Given the description of an element on the screen output the (x, y) to click on. 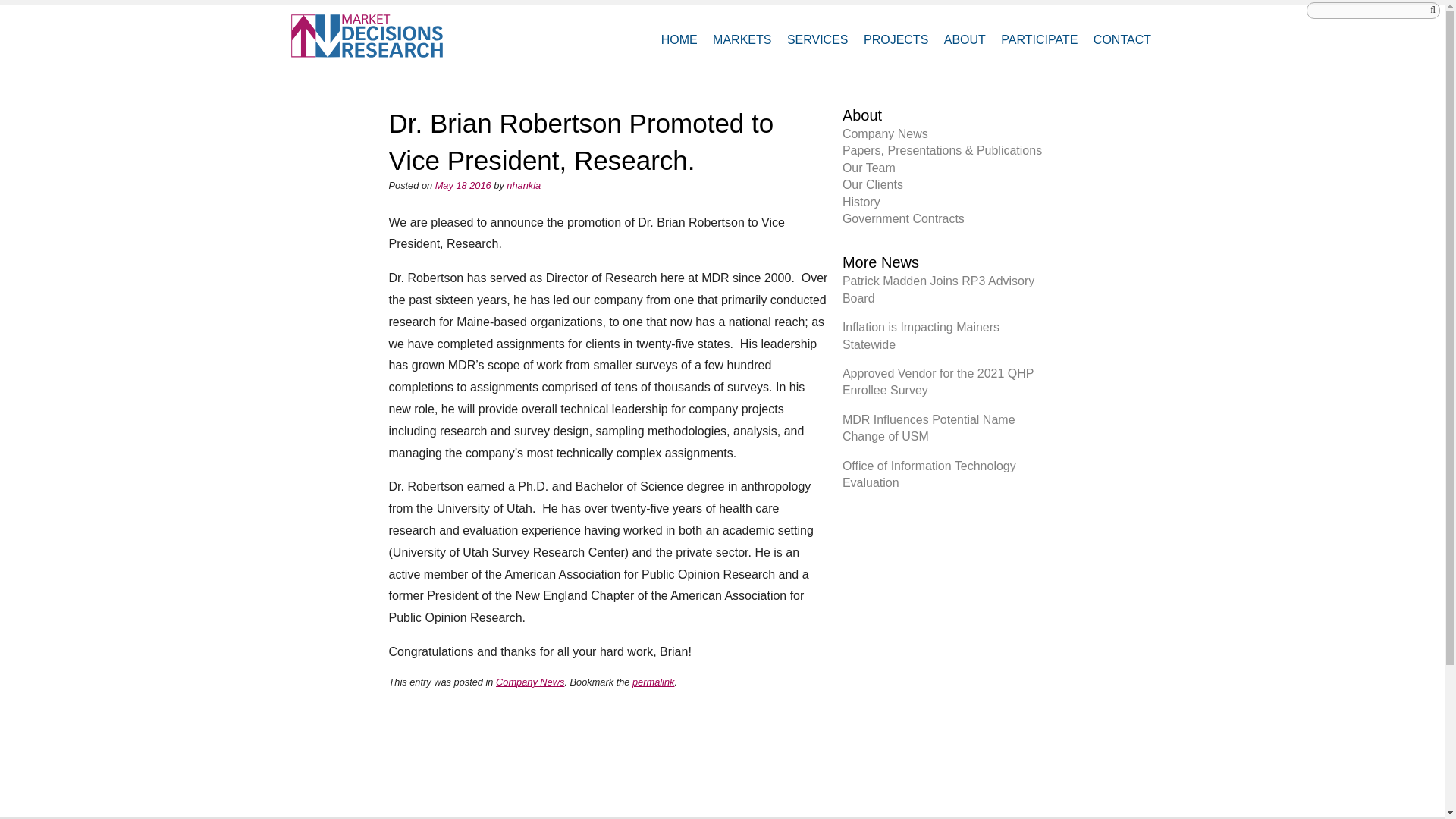
View all posts by nhankla (523, 184)
Market Decisions Research (373, 35)
View Archives for May 18 2016 (460, 184)
View Archives for 2016 (479, 184)
View Archives for May 2016 (443, 184)
